Given the description of an element on the screen output the (x, y) to click on. 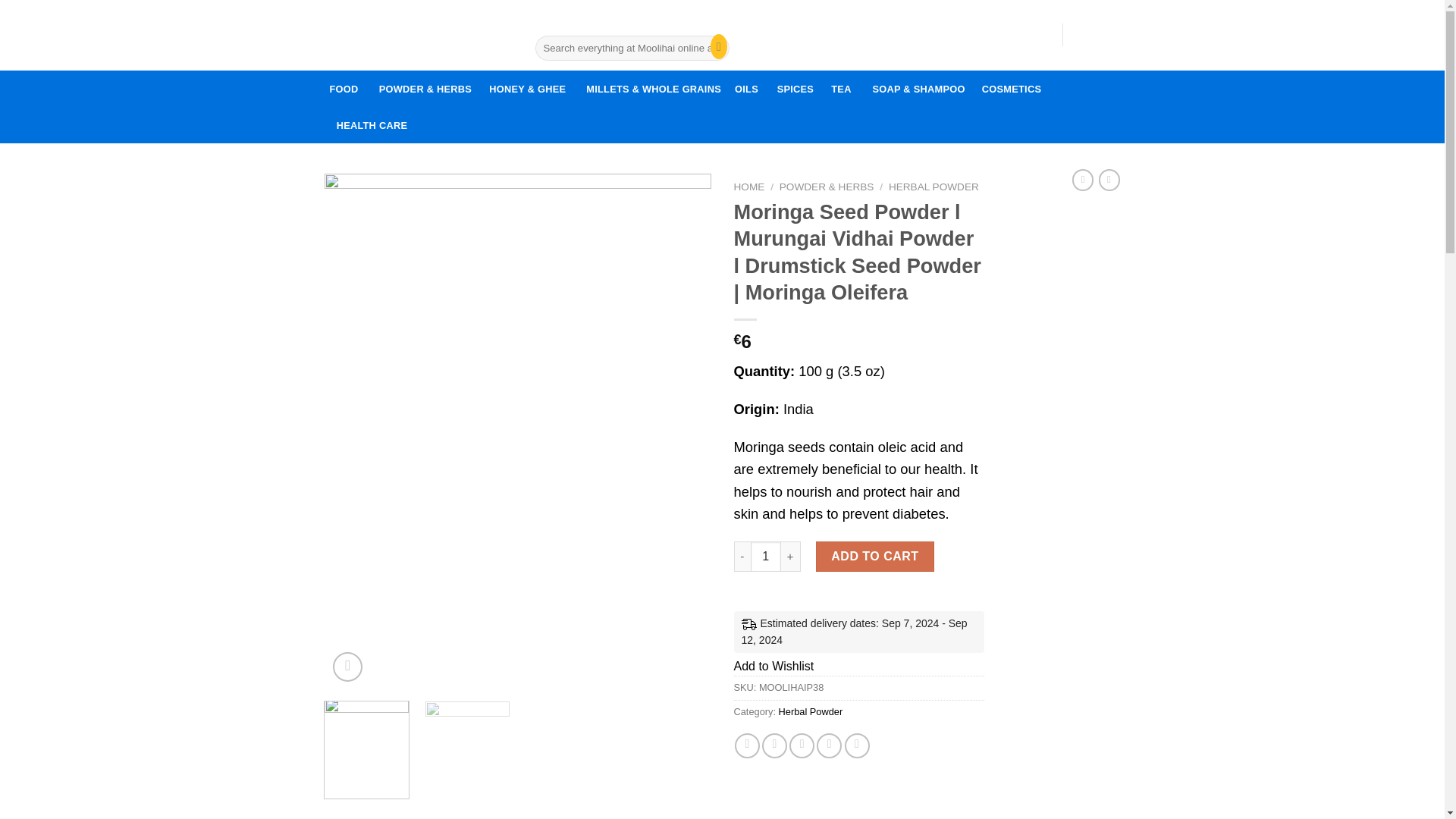
Cart (1098, 34)
HOME (749, 186)
SPICES (896, 34)
Add to Wishlist (794, 88)
Zoom (773, 666)
Herbal Powder (347, 666)
Share on Facebook (810, 711)
ADD TO CART (747, 745)
HEALTH CARE (874, 556)
